Given the description of an element on the screen output the (x, y) to click on. 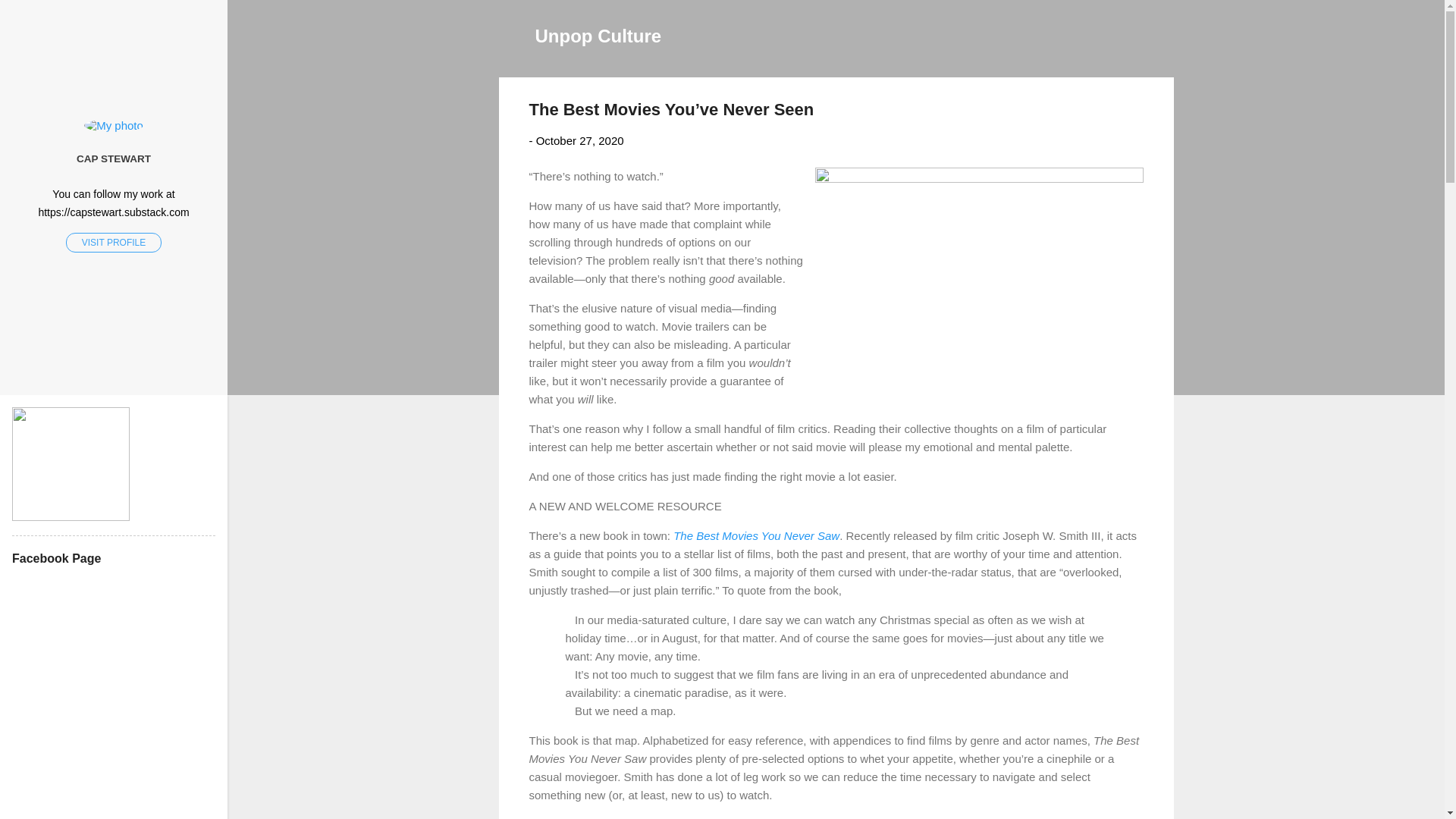
Unpop Culture (598, 35)
permanent link (579, 140)
CAP STEWART (113, 159)
October 27, 2020 (579, 140)
Search (29, 18)
VISIT PROFILE (113, 242)
The Best Movies You Never Saw (756, 535)
